Given the description of an element on the screen output the (x, y) to click on. 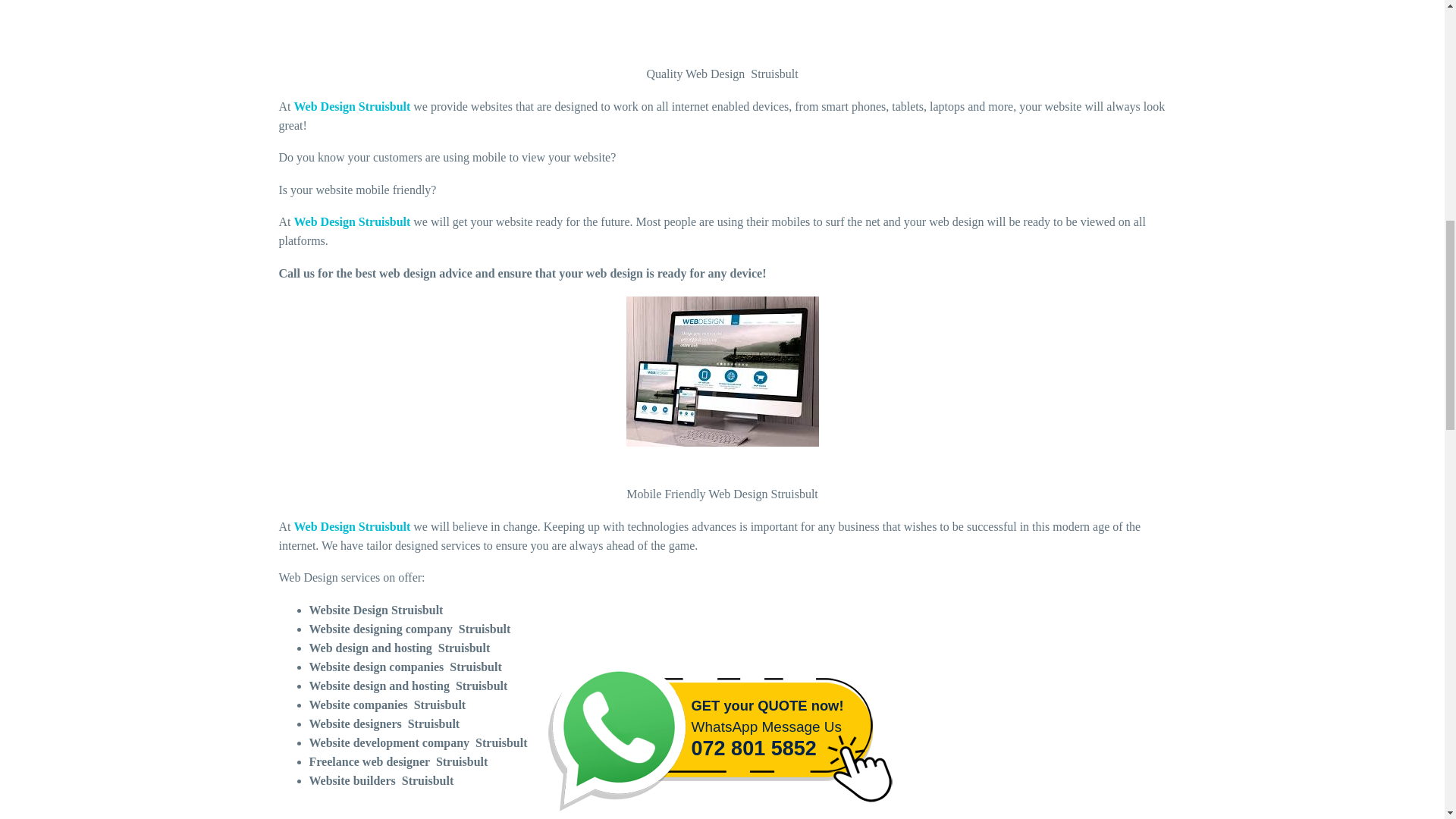
Web Design Struisbult (352, 221)
Web Design Struisbult (352, 106)
Web Design Struisbult (352, 526)
